Given the description of an element on the screen output the (x, y) to click on. 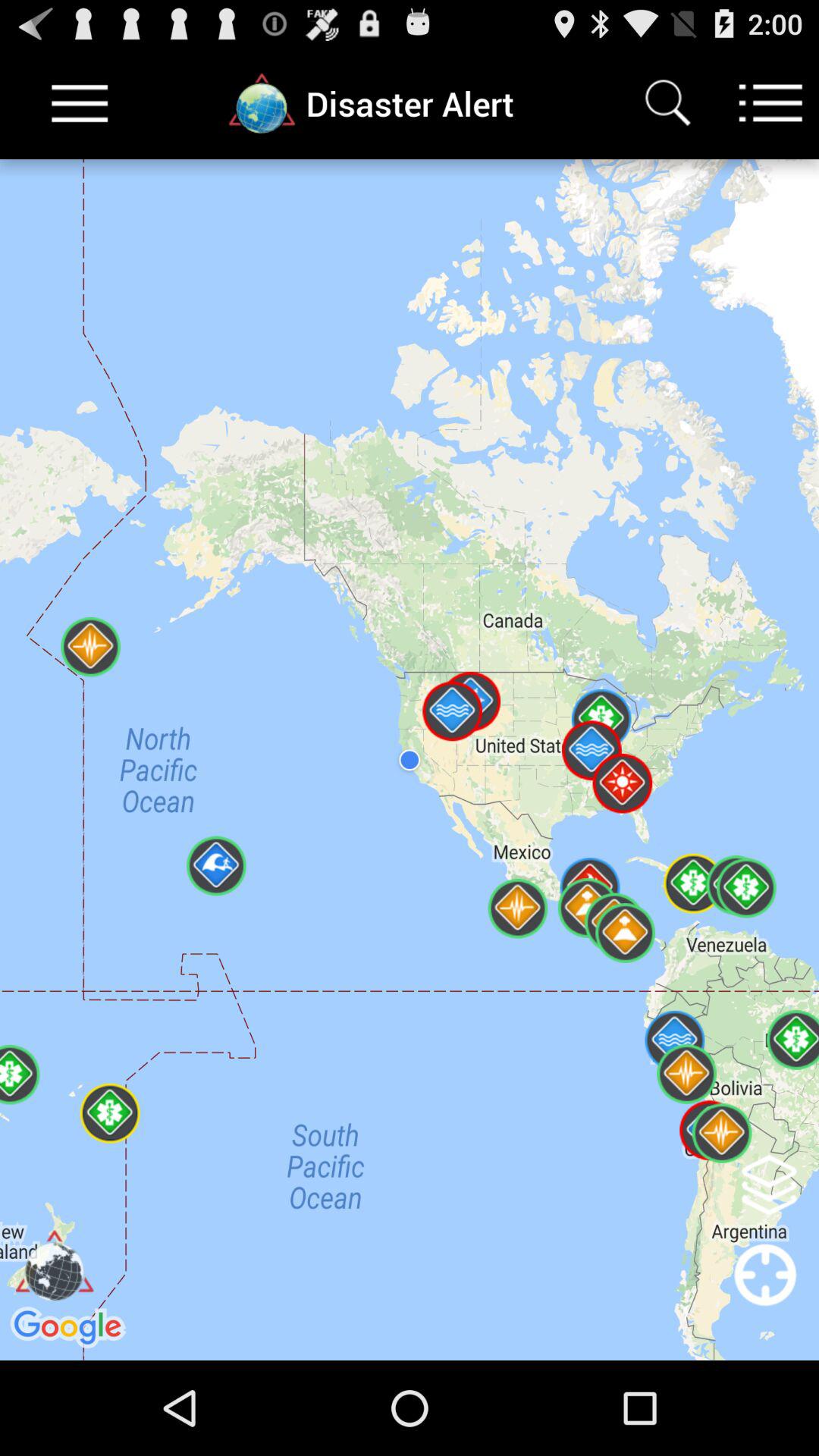
recenter map (765, 1294)
